Given the description of an element on the screen output the (x, y) to click on. 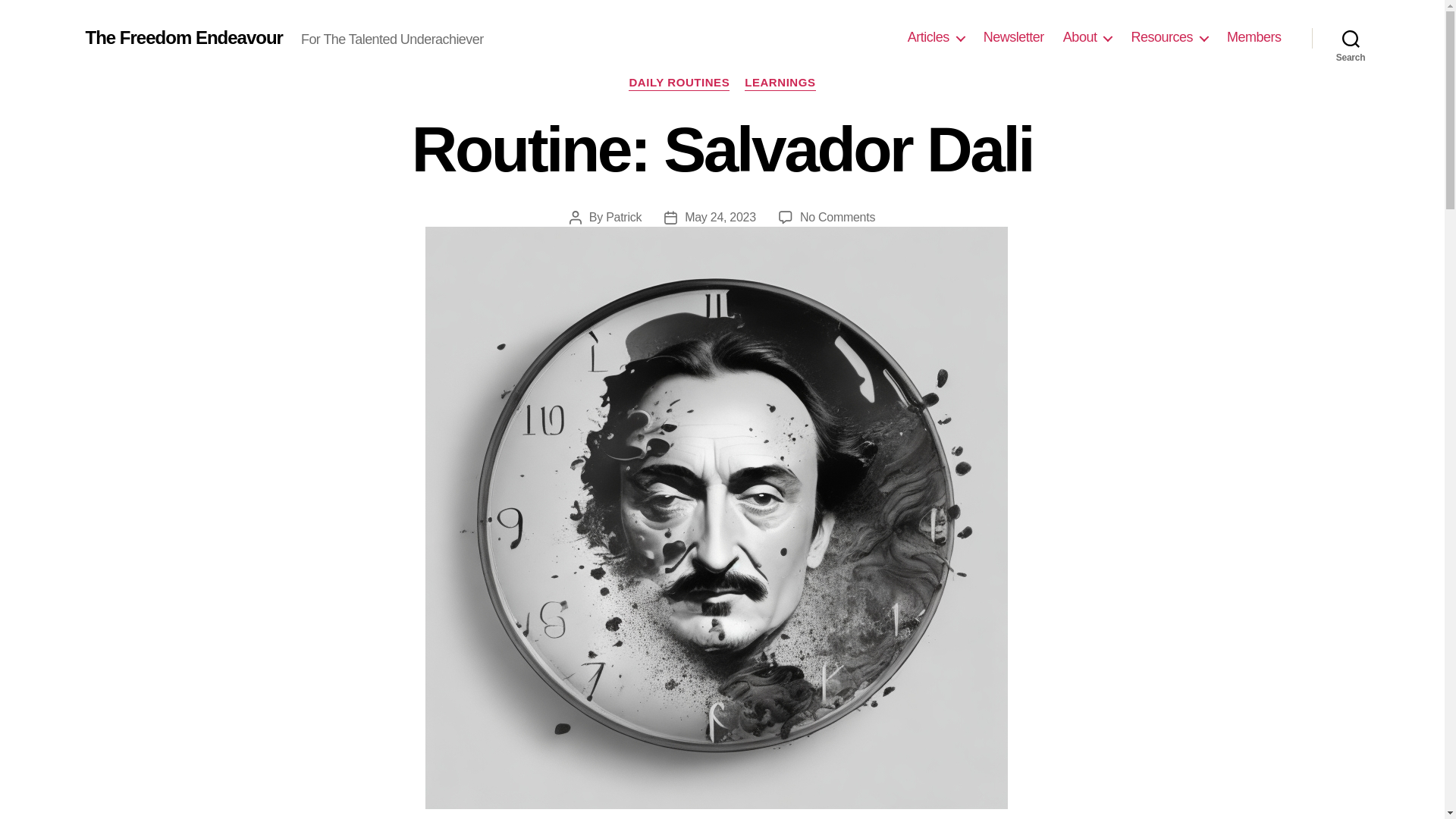
LEARNINGS (779, 83)
Newsletter (1013, 37)
DAILY ROUTINES (678, 83)
The Freedom Endeavour (183, 37)
Search (1350, 37)
Articles (935, 37)
About (1087, 37)
Members (1254, 37)
Resources (1169, 37)
Patrick (623, 216)
